Given the description of an element on the screen output the (x, y) to click on. 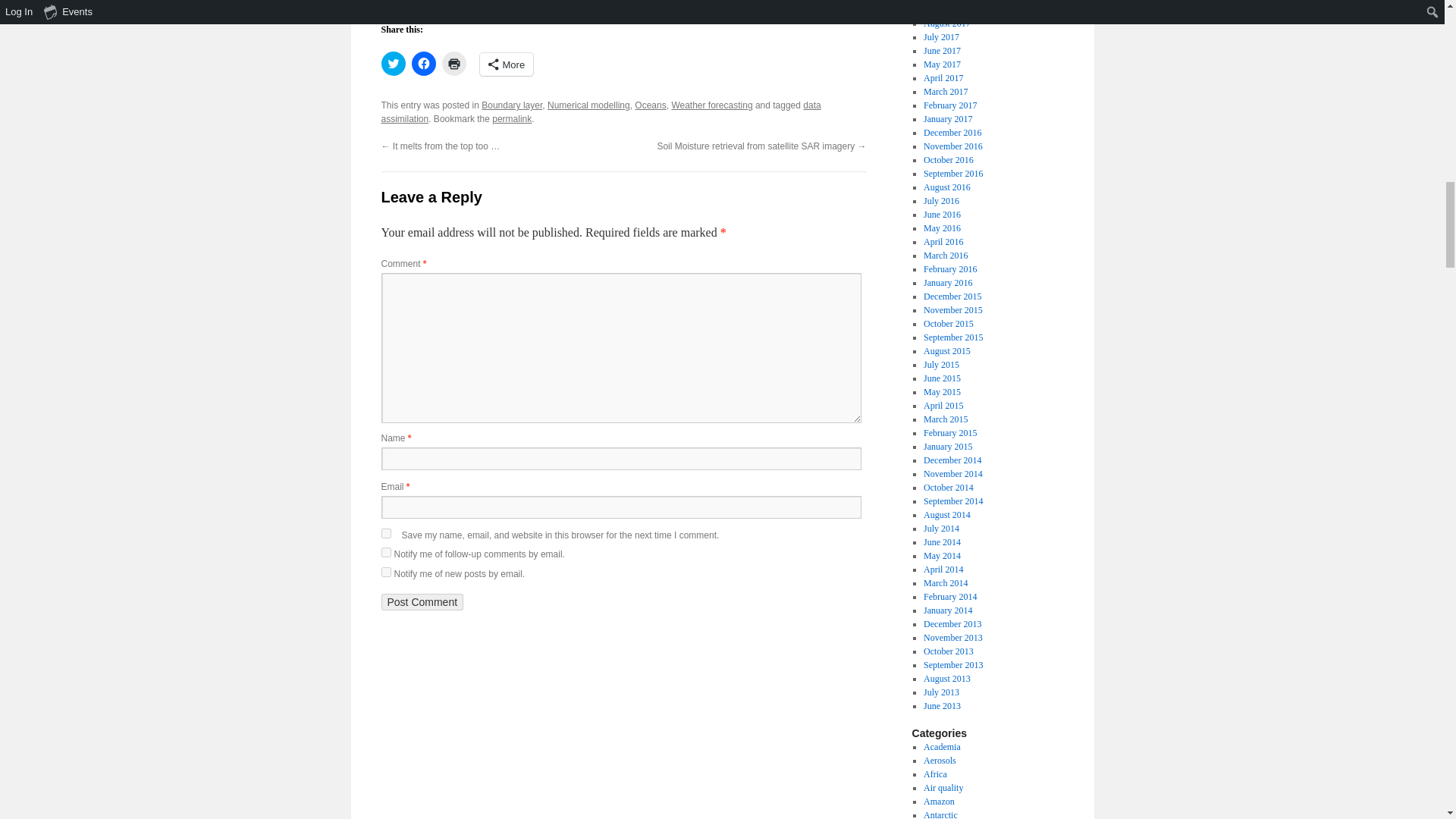
subscribe (385, 552)
Post Comment (421, 601)
Weather forecasting (711, 104)
Boundary layer (511, 104)
subscribe (385, 572)
Click to share on Facebook (422, 63)
yes (385, 533)
Post Comment (421, 601)
More (505, 64)
Click to share on Twitter (392, 63)
Click to print (453, 63)
data assimilation (600, 111)
permalink (511, 118)
Numerical modelling (588, 104)
